Given the description of an element on the screen output the (x, y) to click on. 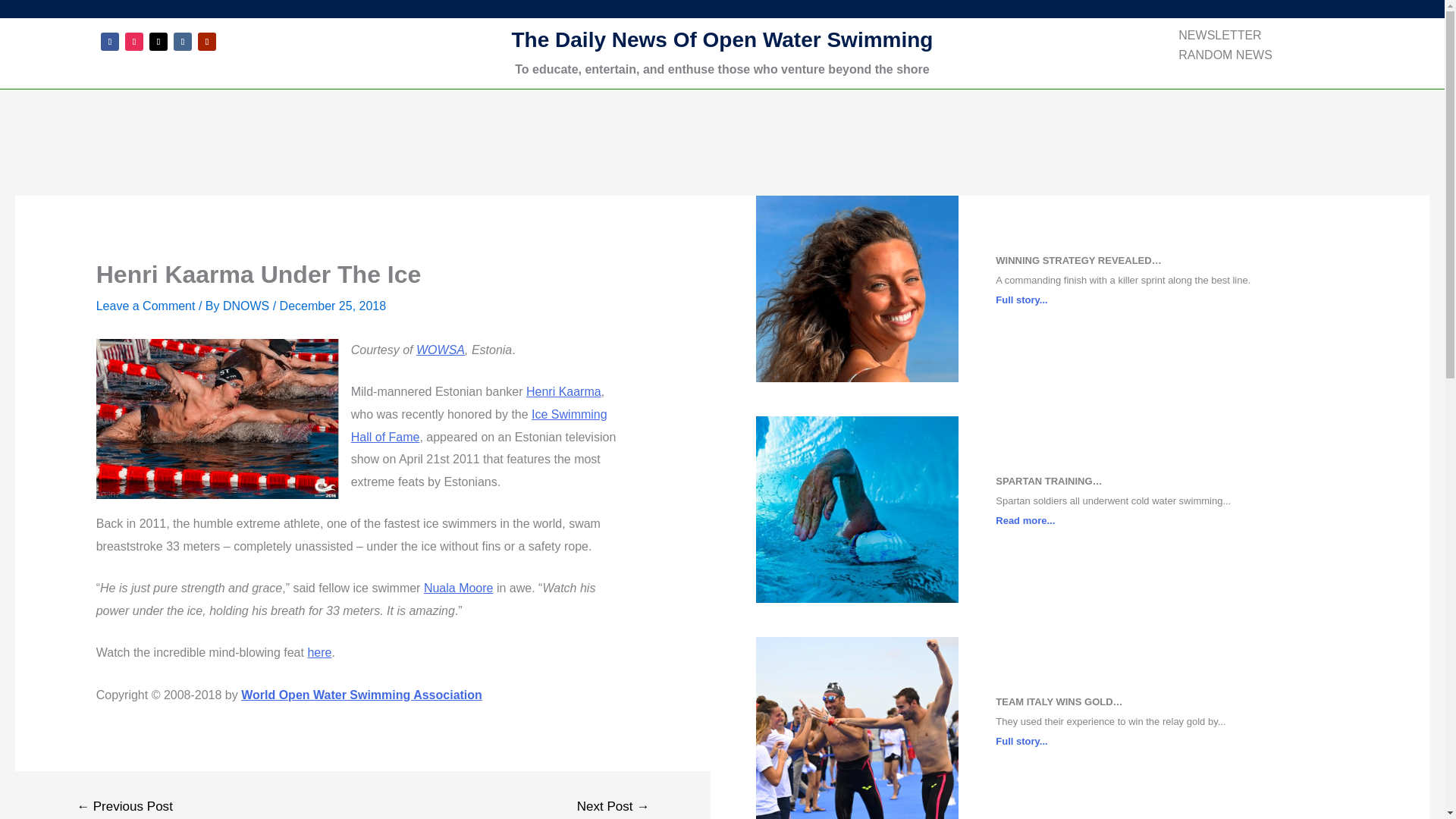
here (319, 652)
Follow on VK (182, 41)
DNOWS (247, 305)
Nuala Moore (458, 587)
Read more... (1024, 520)
Follow on Instagram (133, 41)
Follow on Youtube (206, 41)
Full story... (1020, 299)
Follow on Facebook (109, 41)
Follow on X (158, 41)
Ice Swimming Hall of Fame (478, 425)
Henri Kaarma (563, 391)
View all posts by DNOWS (247, 305)
Full story... (1020, 740)
WOWSA (440, 349)
